Given the description of an element on the screen output the (x, y) to click on. 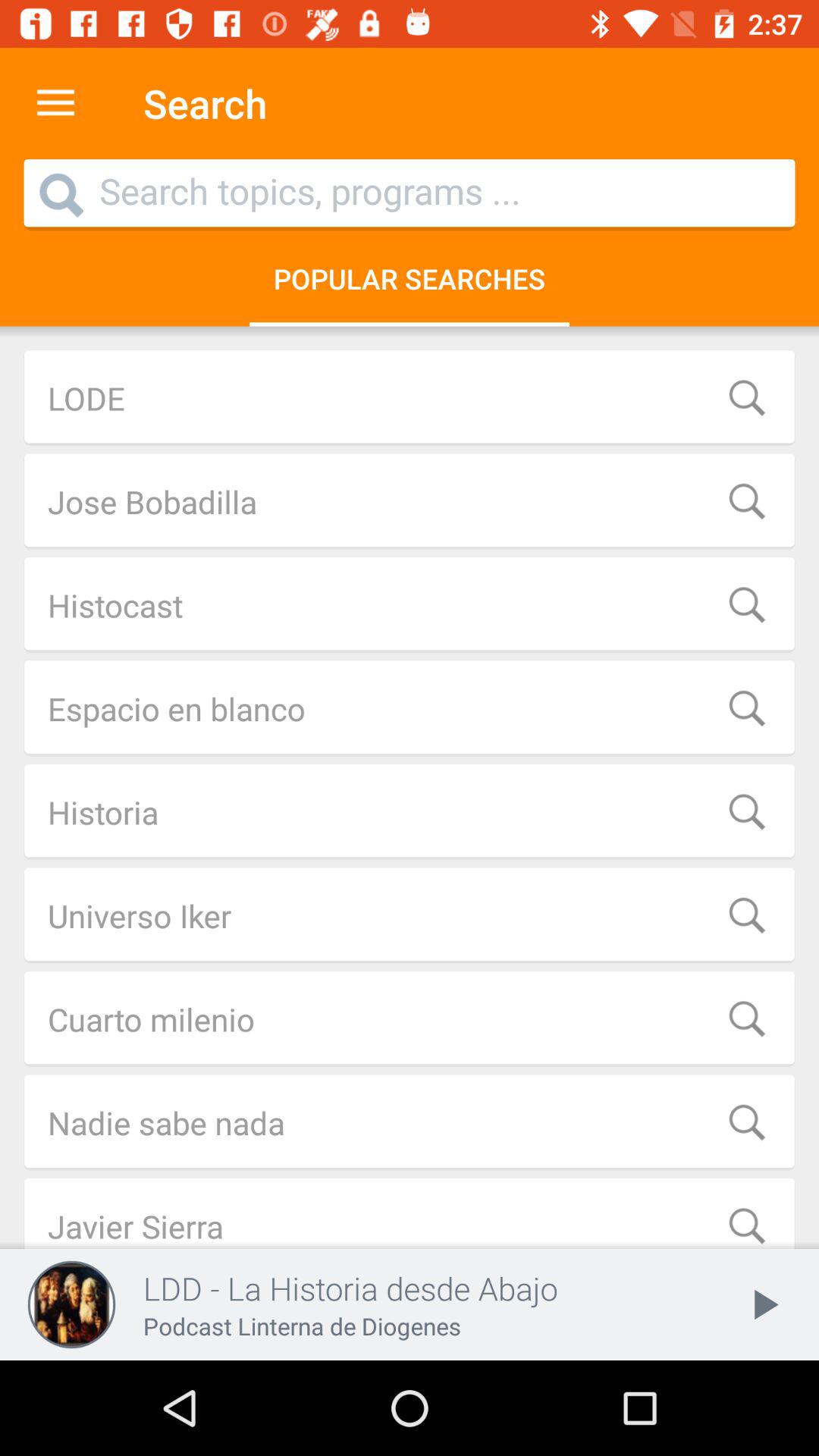
press the icon below the universo iker item (409, 1018)
